Given the description of an element on the screen output the (x, y) to click on. 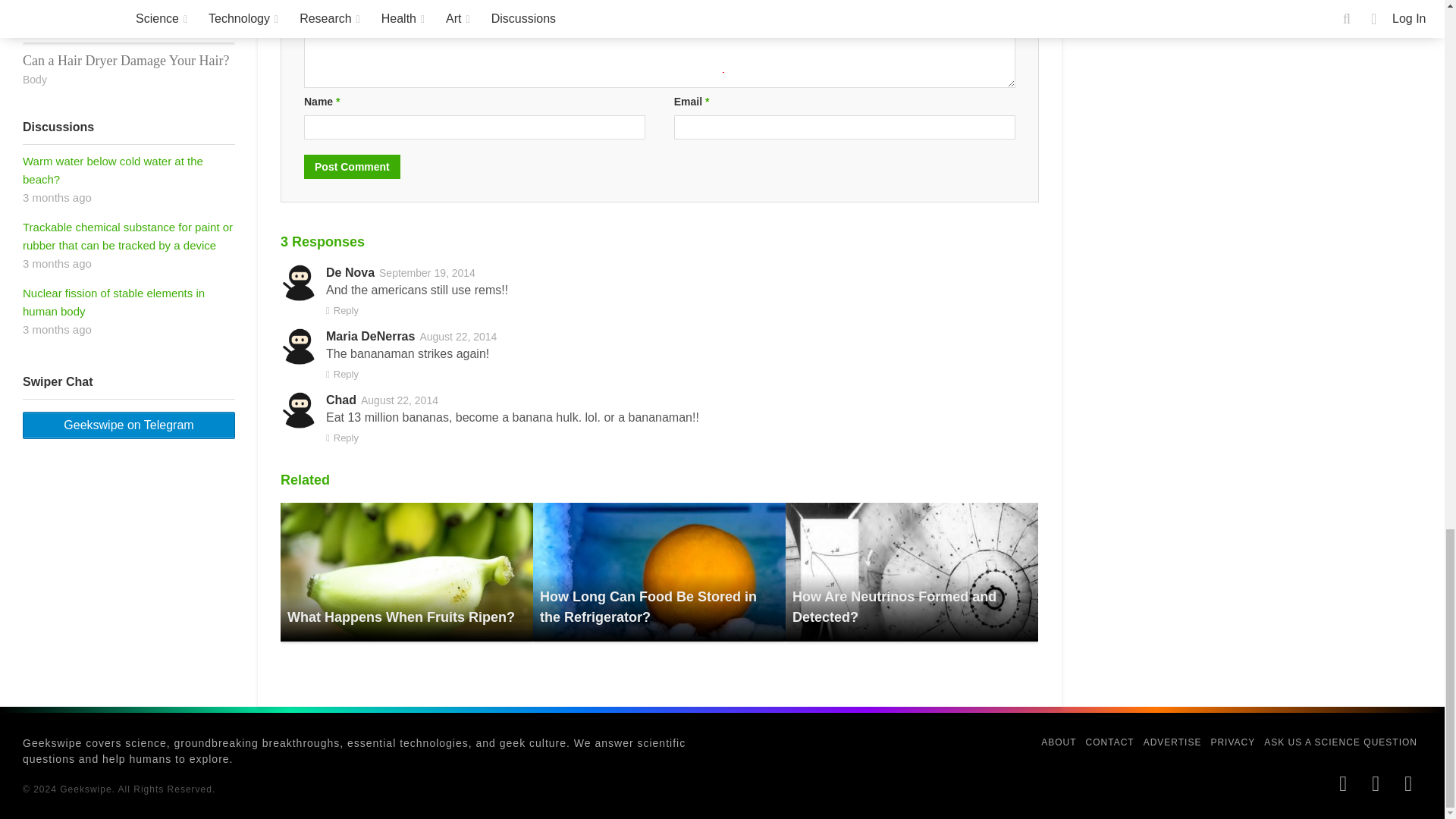
Post Comment (352, 166)
What Happens When Fruits Ripen? (400, 616)
How Long Can Food Be Stored in the Refrigerator? (659, 571)
What Happens When Fruits Ripen? (406, 571)
How Are Neutrinos Formed and Detected? (893, 606)
How Are Neutrinos Formed and Detected? (912, 571)
How Long Can Food Be Stored in the Refrigerator? (648, 606)
Post Comment (352, 166)
